Given the description of an element on the screen output the (x, y) to click on. 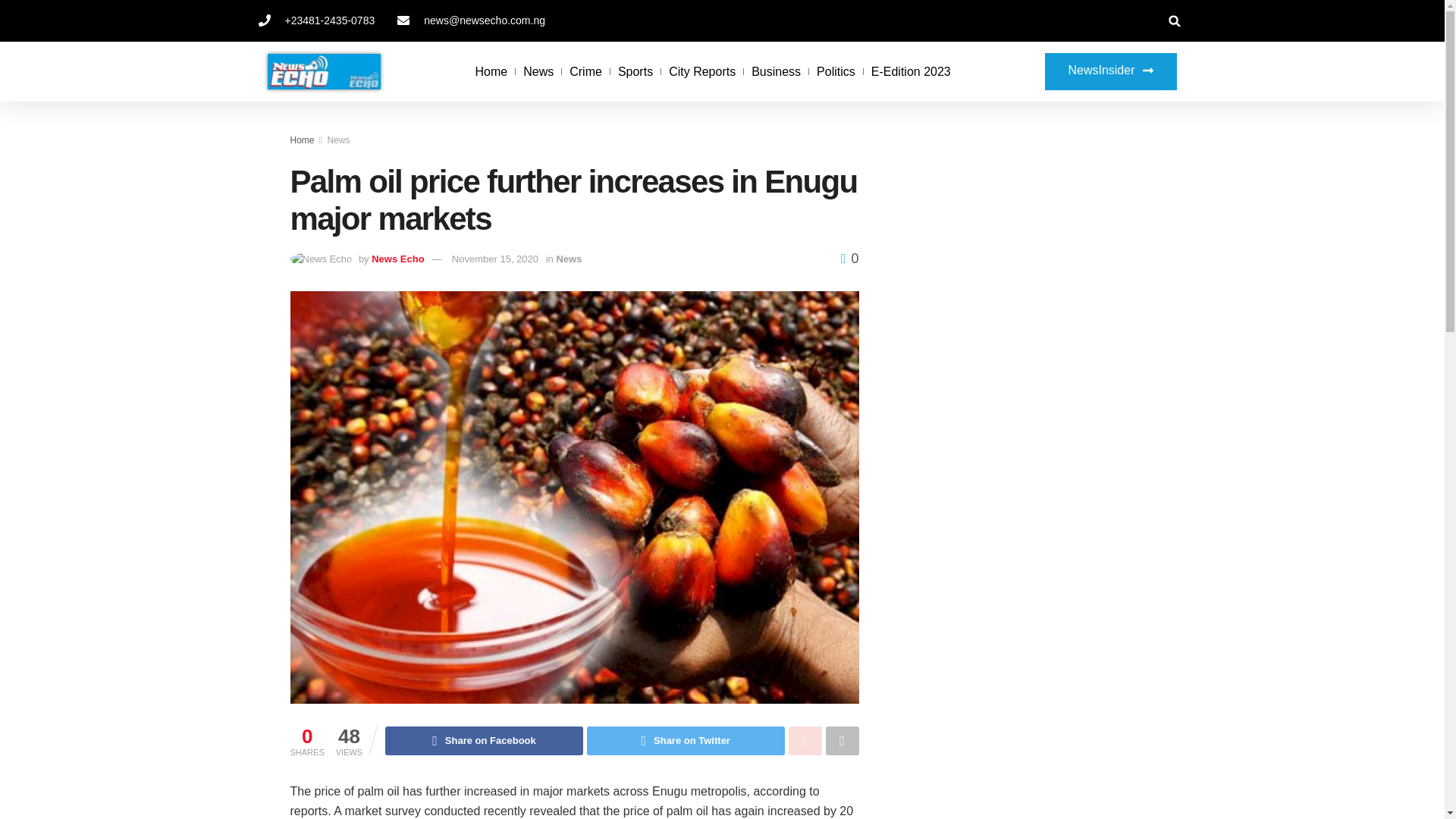
Crime (585, 70)
Politics (836, 70)
News (537, 70)
Home (301, 140)
City Reports (701, 70)
Home (492, 70)
E-Edition 2023 (910, 70)
Sports (634, 70)
Business (775, 70)
NewsInsider (1110, 71)
